Given the description of an element on the screen output the (x, y) to click on. 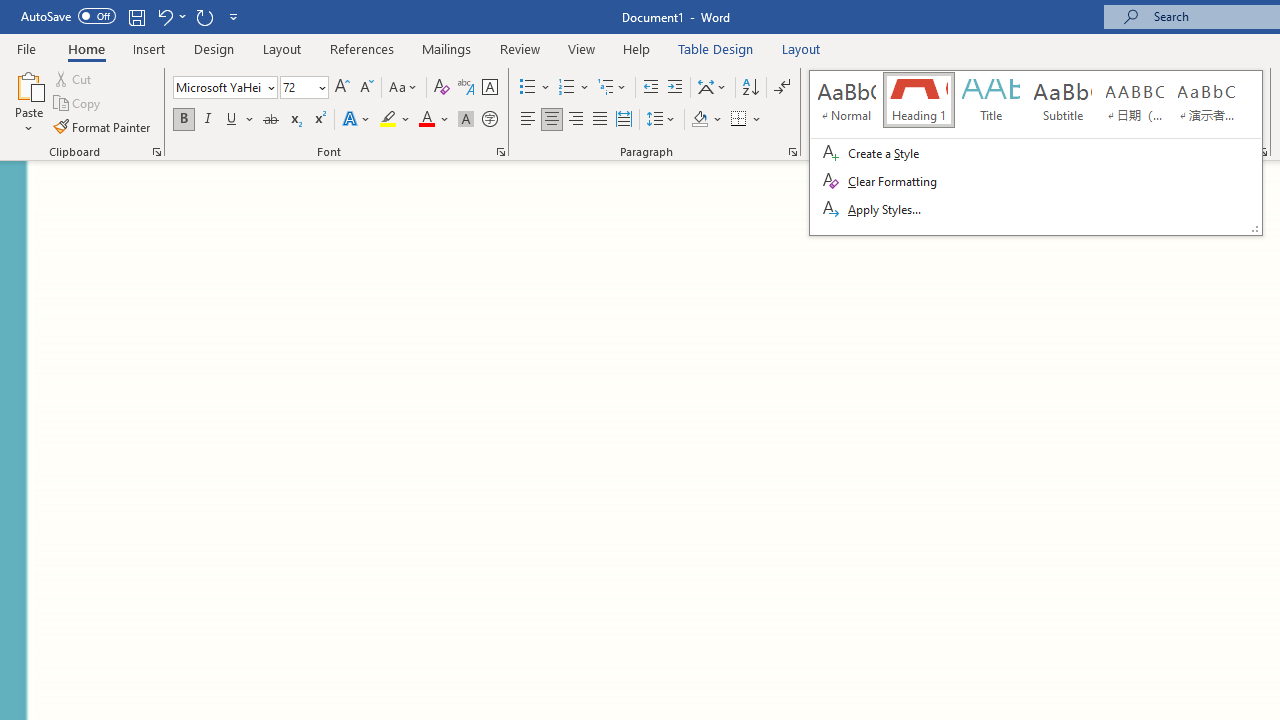
Table Design (715, 48)
Character Shading (465, 119)
Justify (599, 119)
Shading RGB(0, 0, 0) (699, 119)
Undo Grow Font (164, 15)
Grow Font (342, 87)
Italic (207, 119)
